Given the description of an element on the screen output the (x, y) to click on. 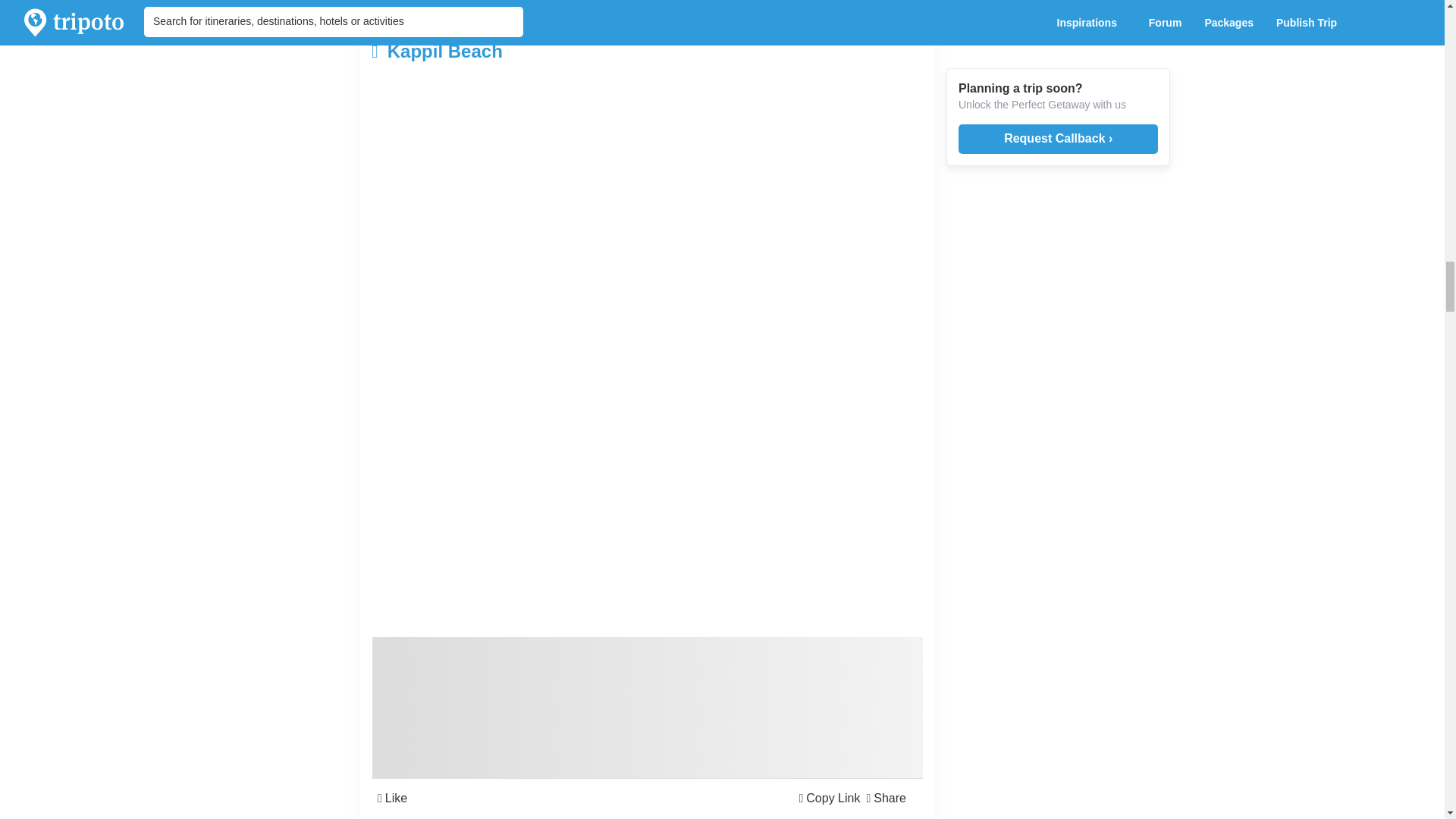
Kappil Beach (555, 51)
